Given the description of an element on the screen output the (x, y) to click on. 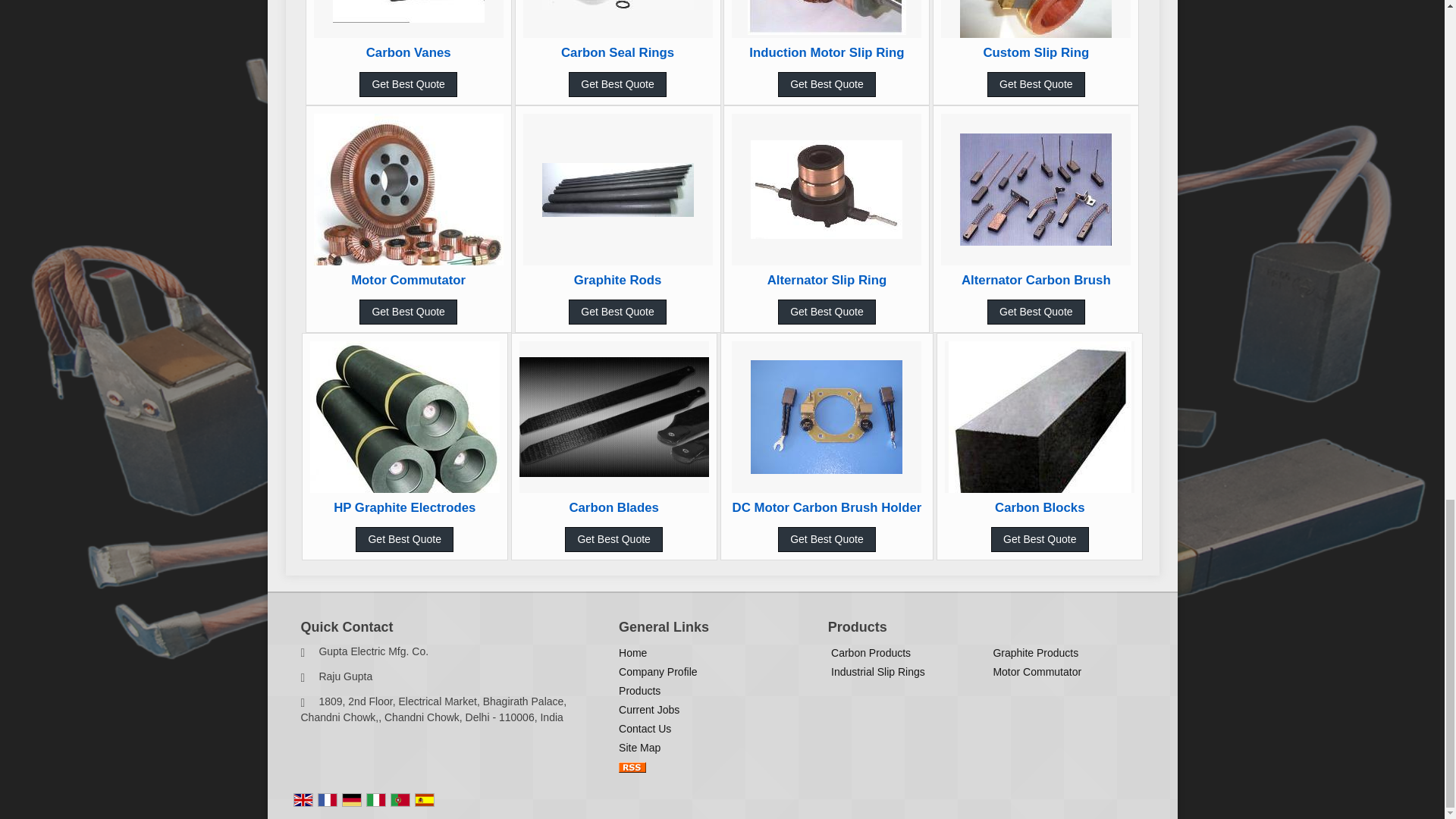
Induction Motor Slip Ring (826, 52)
Get Best Quote (617, 84)
Get Best Quote (826, 84)
Carbon Vanes (408, 52)
Get Best Quote (408, 84)
Carbon Seal Rings (617, 52)
